Given the description of an element on the screen output the (x, y) to click on. 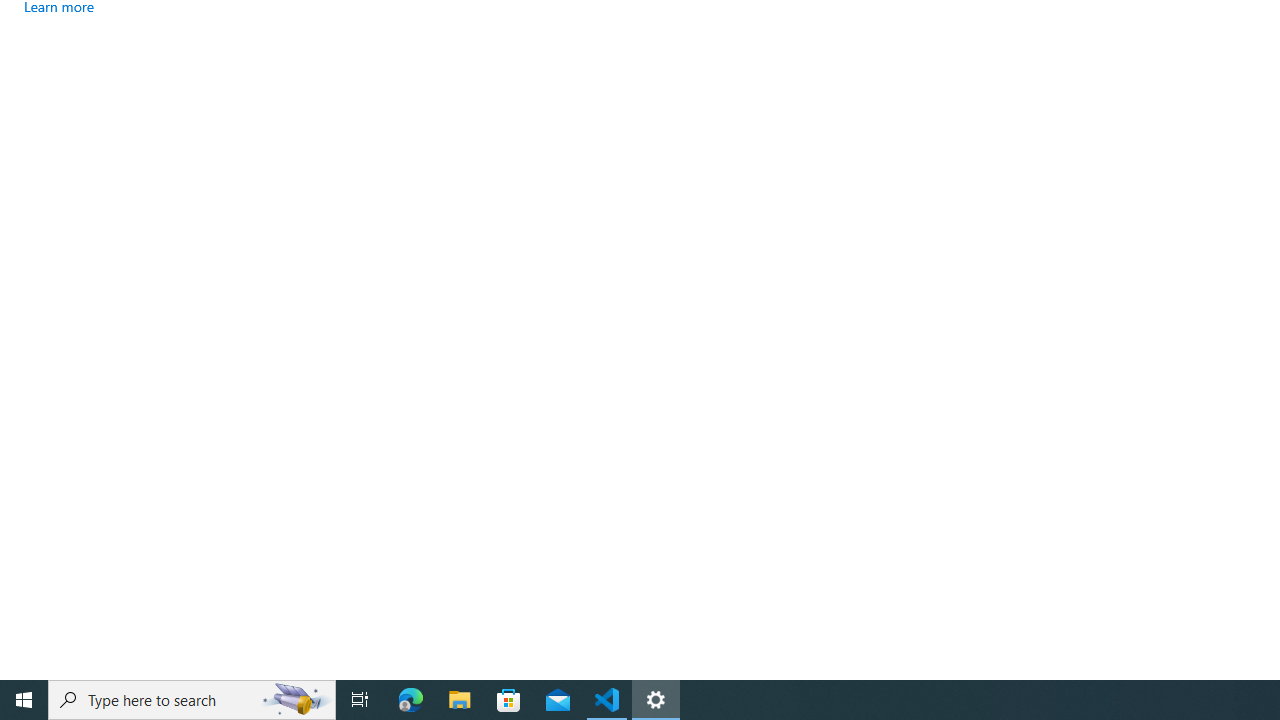
Search highlights icon opens search home window (295, 699)
Settings - 1 running window (656, 699)
Microsoft Store (509, 699)
Task View (359, 699)
File Explorer (460, 699)
Microsoft Edge (411, 699)
Type here to search (191, 699)
Start (24, 699)
Visual Studio Code - 1 running window (607, 699)
